Given the description of an element on the screen output the (x, y) to click on. 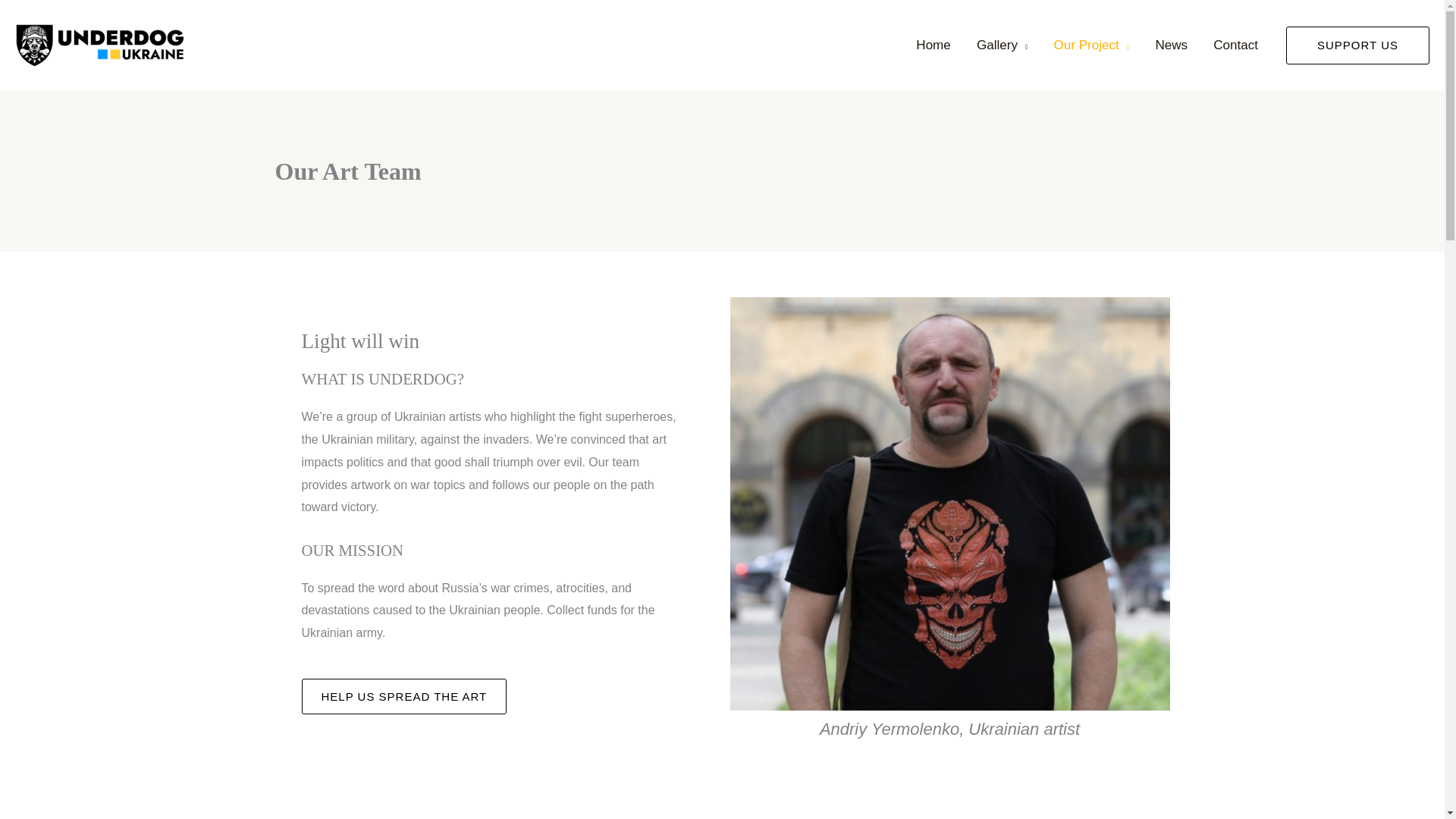
News (1170, 45)
Contact (1235, 45)
Our Project (1091, 45)
Gallery (1002, 45)
Home (932, 45)
SUPPORT US (1357, 45)
